Given the description of an element on the screen output the (x, y) to click on. 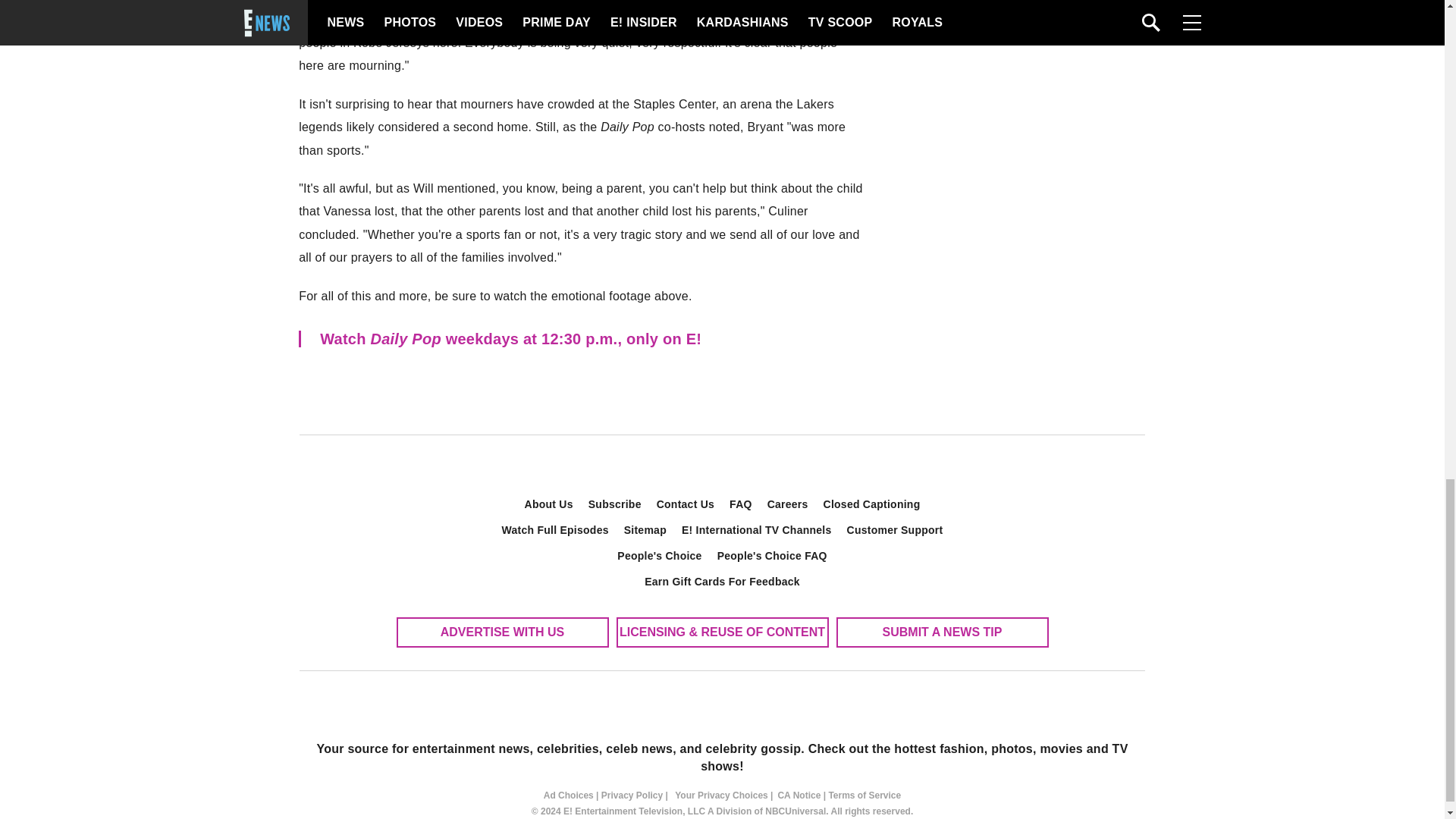
About Us (548, 503)
